Given the description of an element on the screen output the (x, y) to click on. 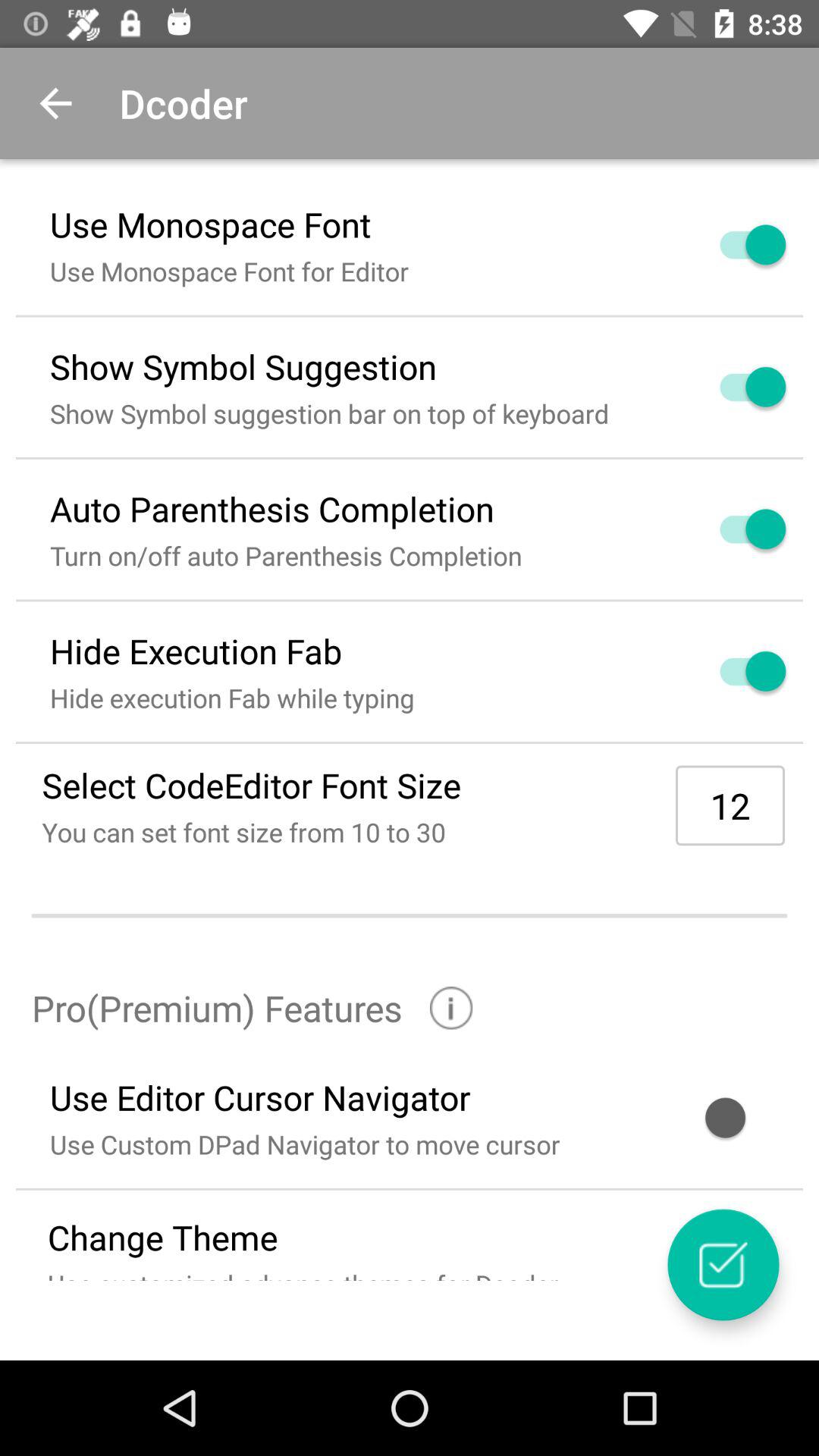
launch the icon next to the select codeeditor font icon (729, 805)
